Given the description of an element on the screen output the (x, y) to click on. 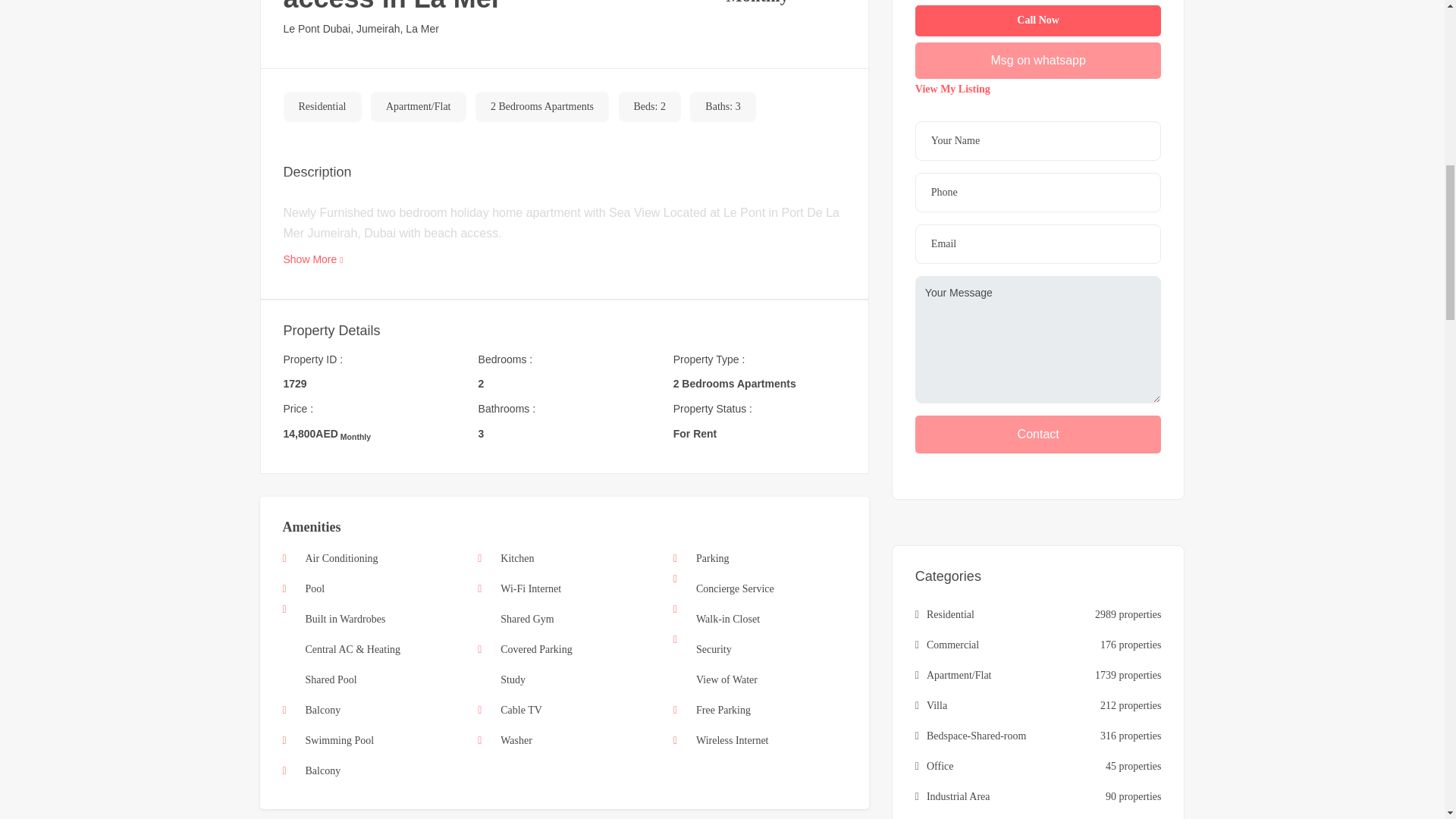
Shared Gym (526, 618)
Concierge Service (734, 588)
Baths: 3 (721, 106)
Pool (314, 588)
Parking (712, 558)
Shared Pool (330, 679)
Air Conditioning (340, 558)
View of Water (726, 679)
Security (713, 649)
Show More (313, 259)
Walk-in Closet (727, 618)
2 Bedrooms Apartments (542, 106)
Built in Wardrobes (344, 618)
Swimming Pool (339, 740)
Covered Parking (536, 649)
